Given the description of an element on the screen output the (x, y) to click on. 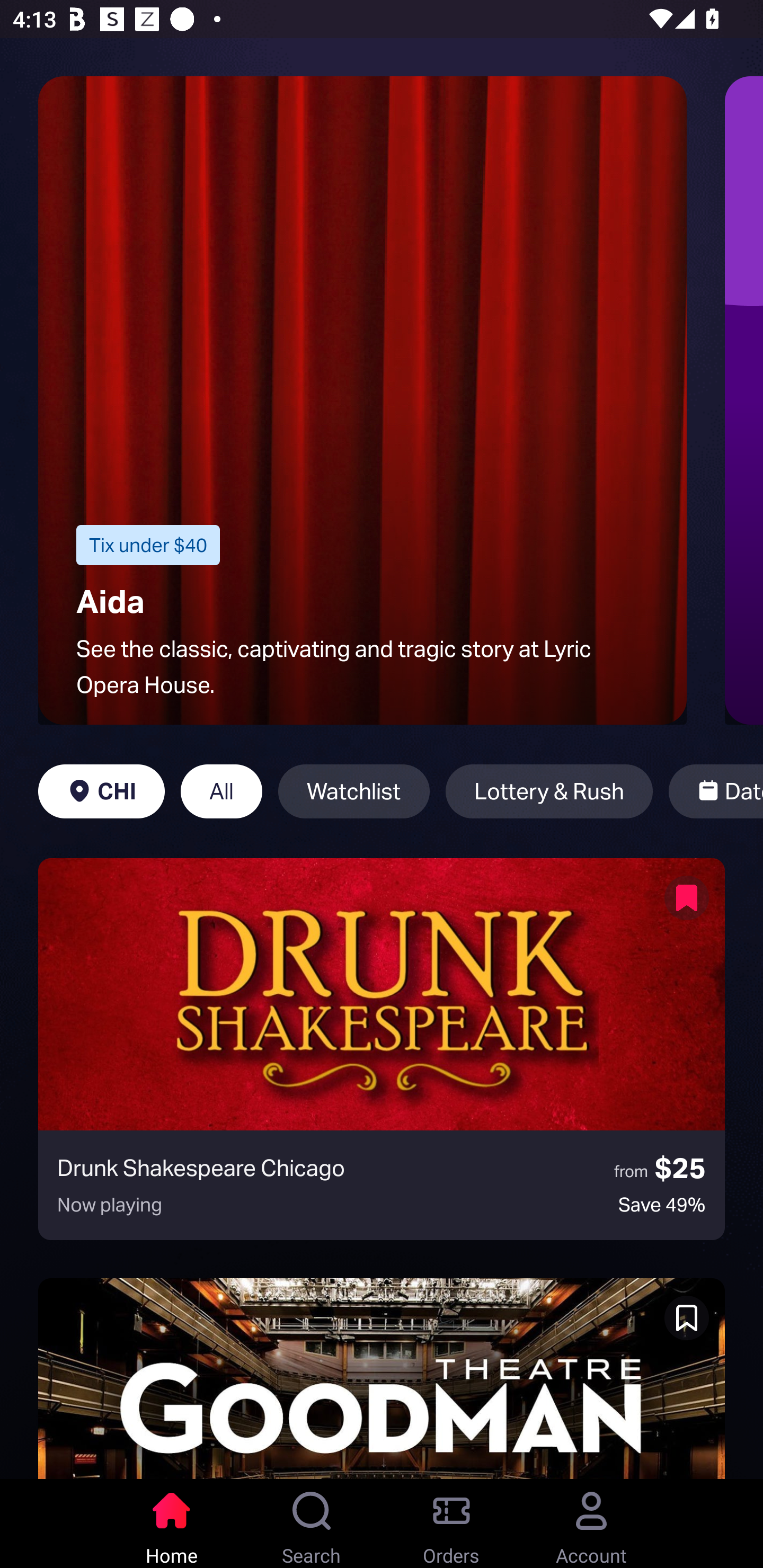
CHI (101, 791)
All (221, 791)
Watchlist (353, 791)
Lottery & Rush (549, 791)
Search (311, 1523)
Orders (451, 1523)
Account (591, 1523)
